Given the description of an element on the screen output the (x, y) to click on. 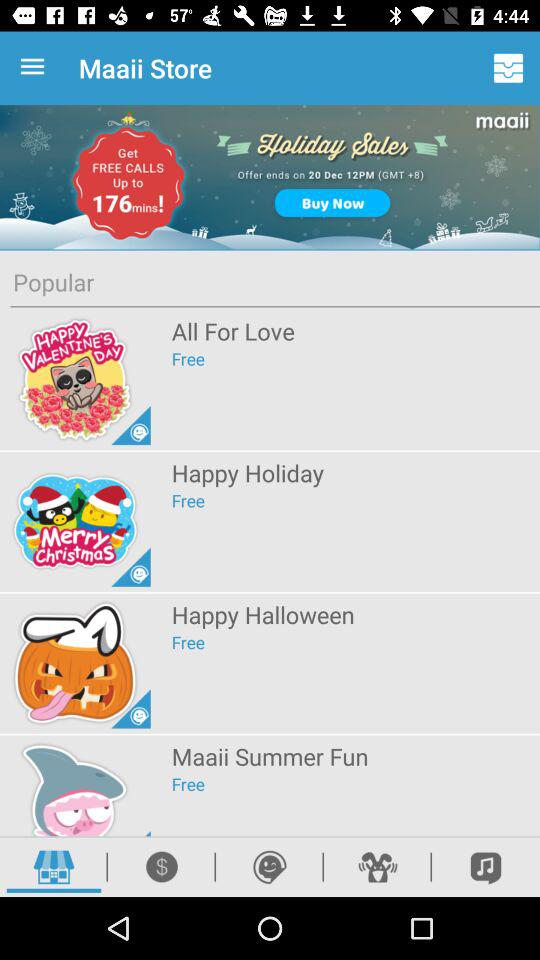
open icon next to the maaii store app (36, 68)
